Given the description of an element on the screen output the (x, y) to click on. 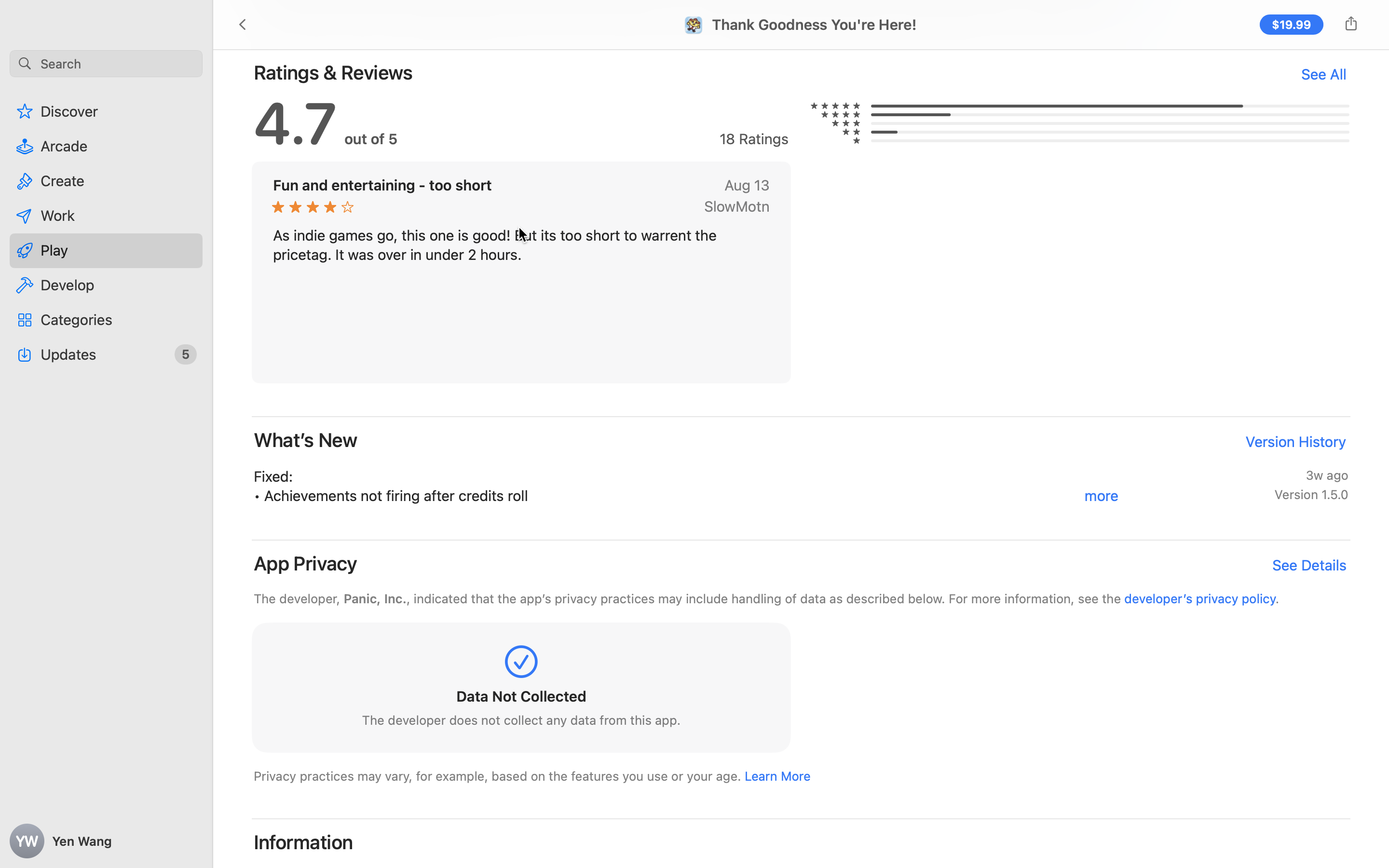
App Privacy Element type: AXStaticText (305, 562)
Data Not Collected, The developer does not collect any data from this app Element type: AXStaticText (520, 690)
Thank Goodness You're Here! Element type: AXStaticText (814, 24)
